Given the description of an element on the screen output the (x, y) to click on. 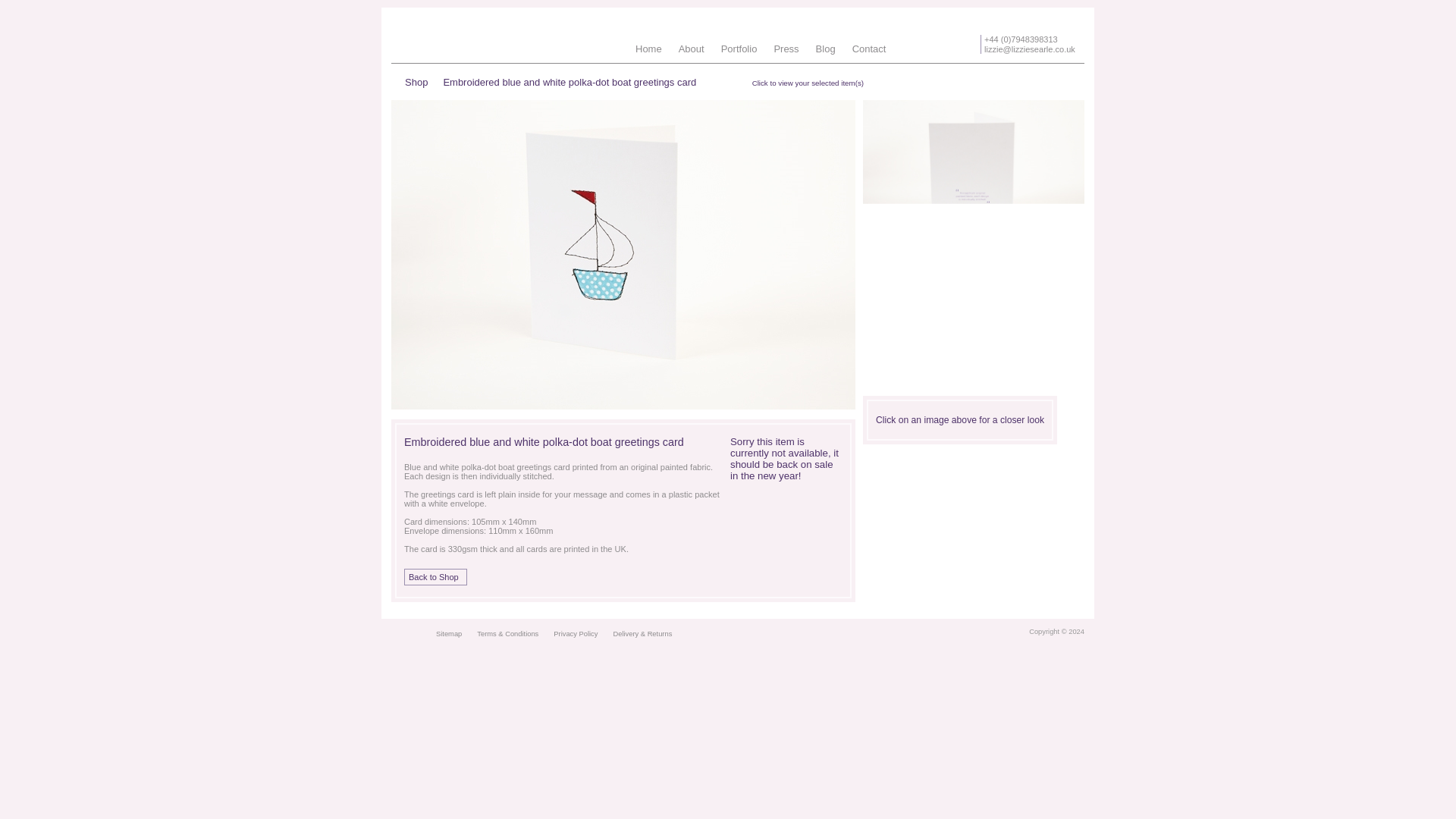
Blog (825, 48)
Sitemap (448, 633)
Shop (416, 81)
Contact (868, 48)
About (691, 48)
Privacy Policy (574, 633)
Press (785, 48)
Follow us on Twitter (414, 633)
Contact (868, 48)
Privacy Policy (574, 633)
